Given the description of an element on the screen output the (x, y) to click on. 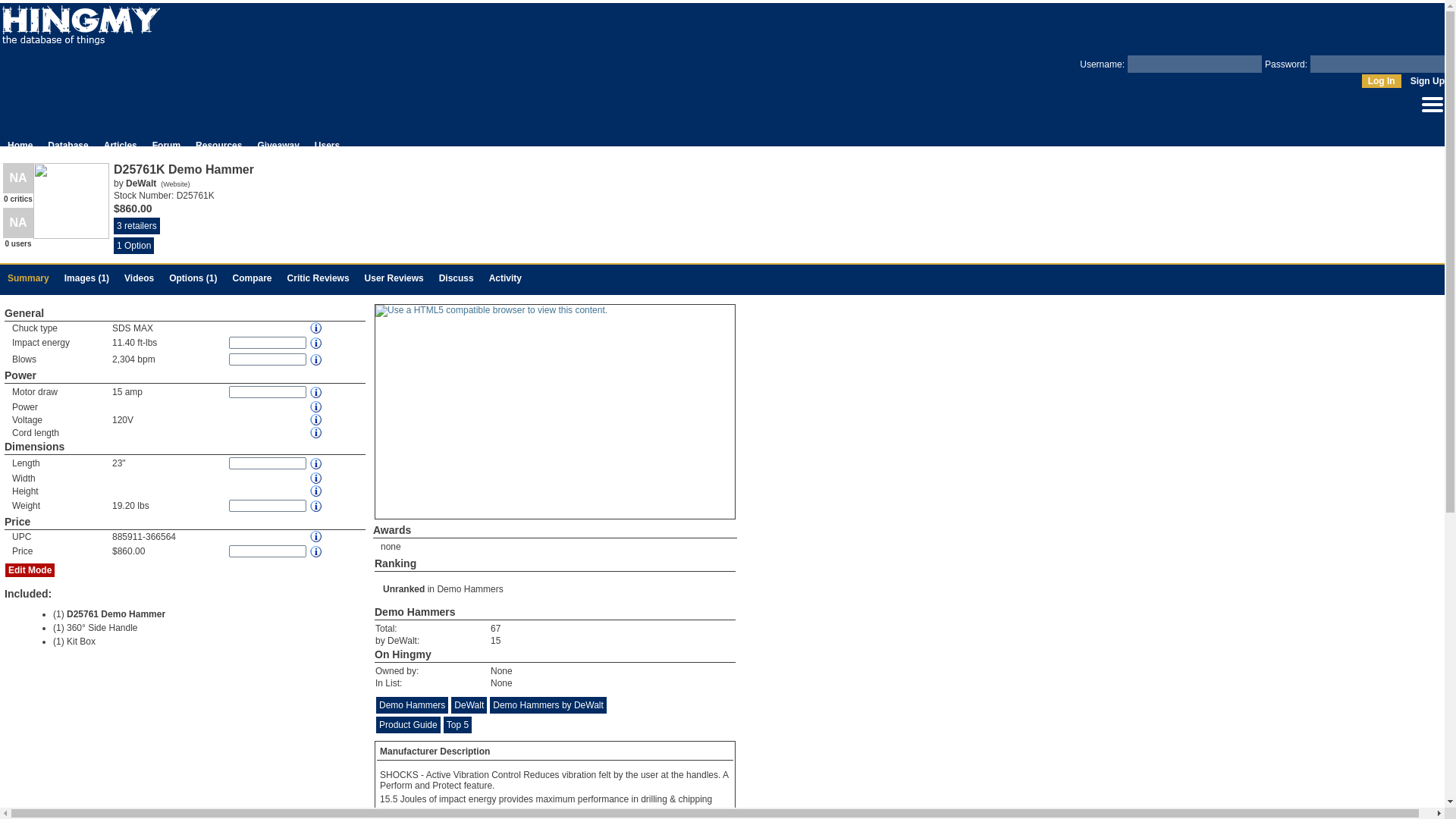
Website (175, 184)
Videos (138, 277)
This product has not been reviewed yet. (17, 223)
The number of blows per second. (317, 358)
All products made by DeWalt (140, 183)
This product has not been reviewed by a critic yet. (17, 177)
Home (17, 228)
Log In (19, 145)
Database (1380, 80)
Log In (67, 145)
DeWalt (1380, 80)
Manage your profile (140, 183)
Resources (1432, 113)
3 retailers (218, 145)
